Given the description of an element on the screen output the (x, y) to click on. 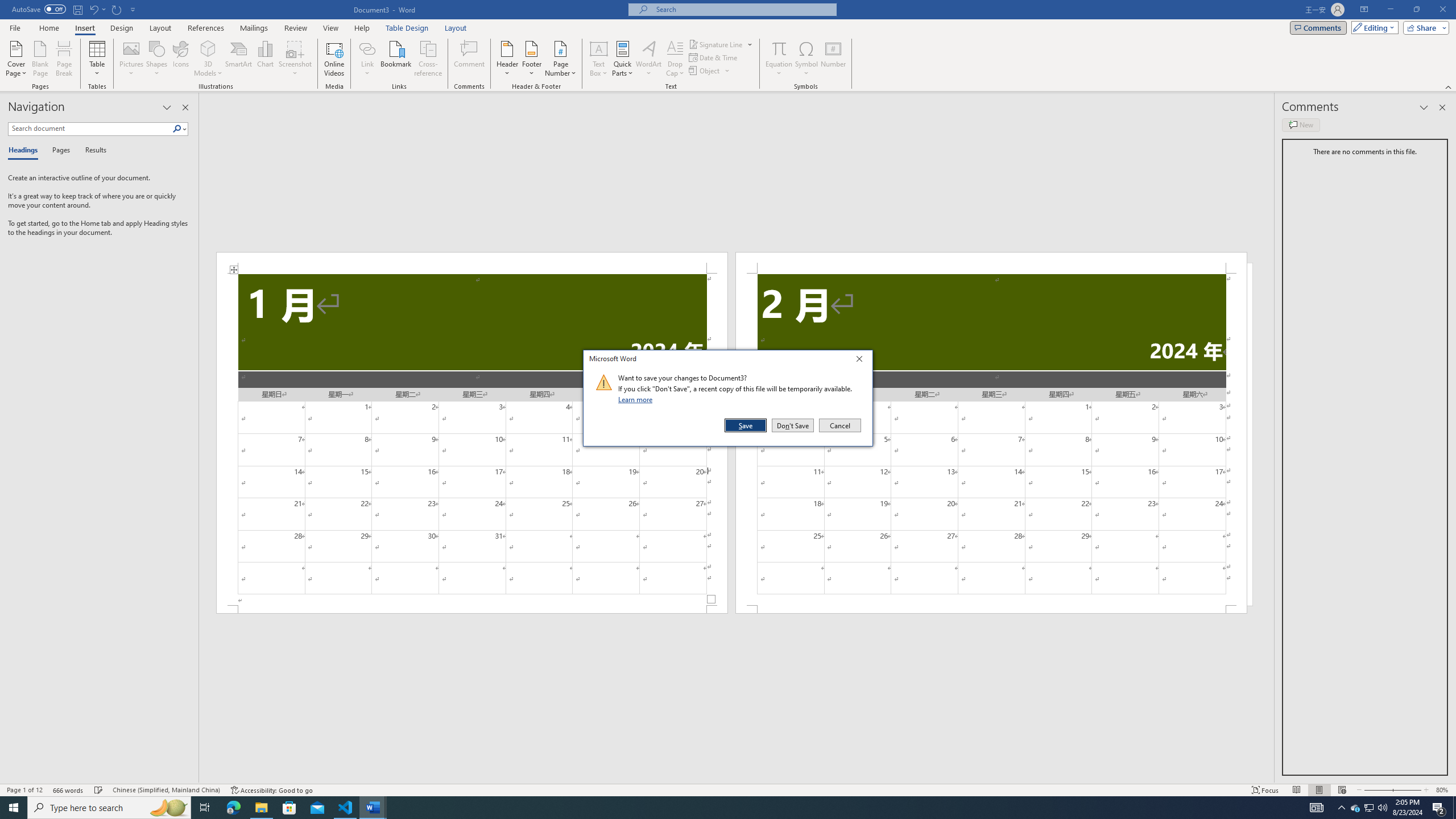
Pictures (131, 58)
